Given the description of an element on the screen output the (x, y) to click on. 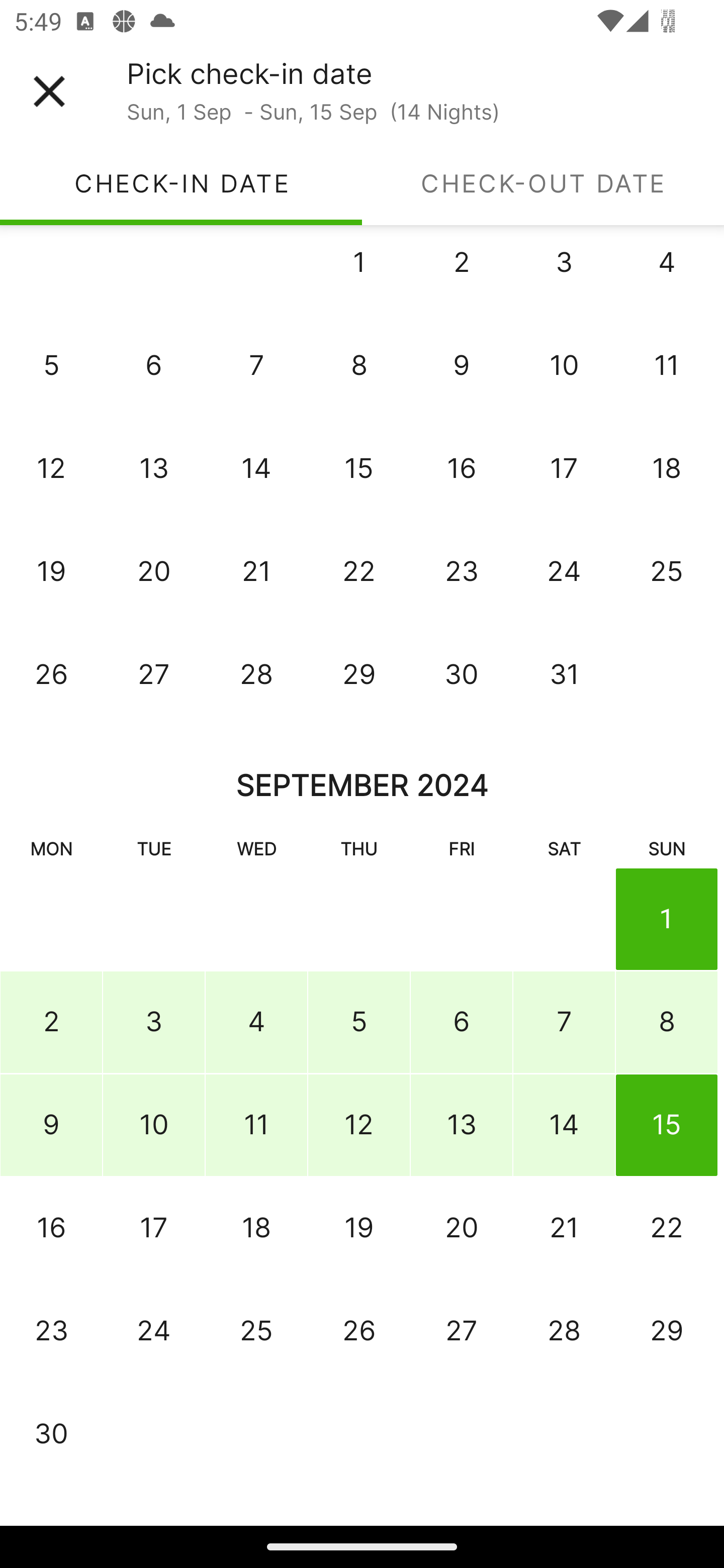
Check-out Date CHECK-OUT DATE (543, 183)
